Given the description of an element on the screen output the (x, y) to click on. 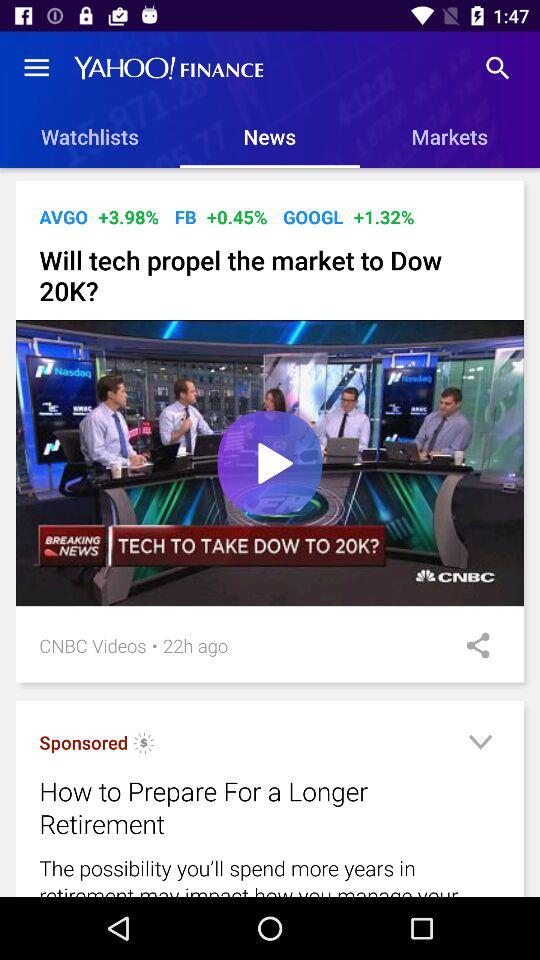
open icon next to avgo item (128, 216)
